Given the description of an element on the screen output the (x, y) to click on. 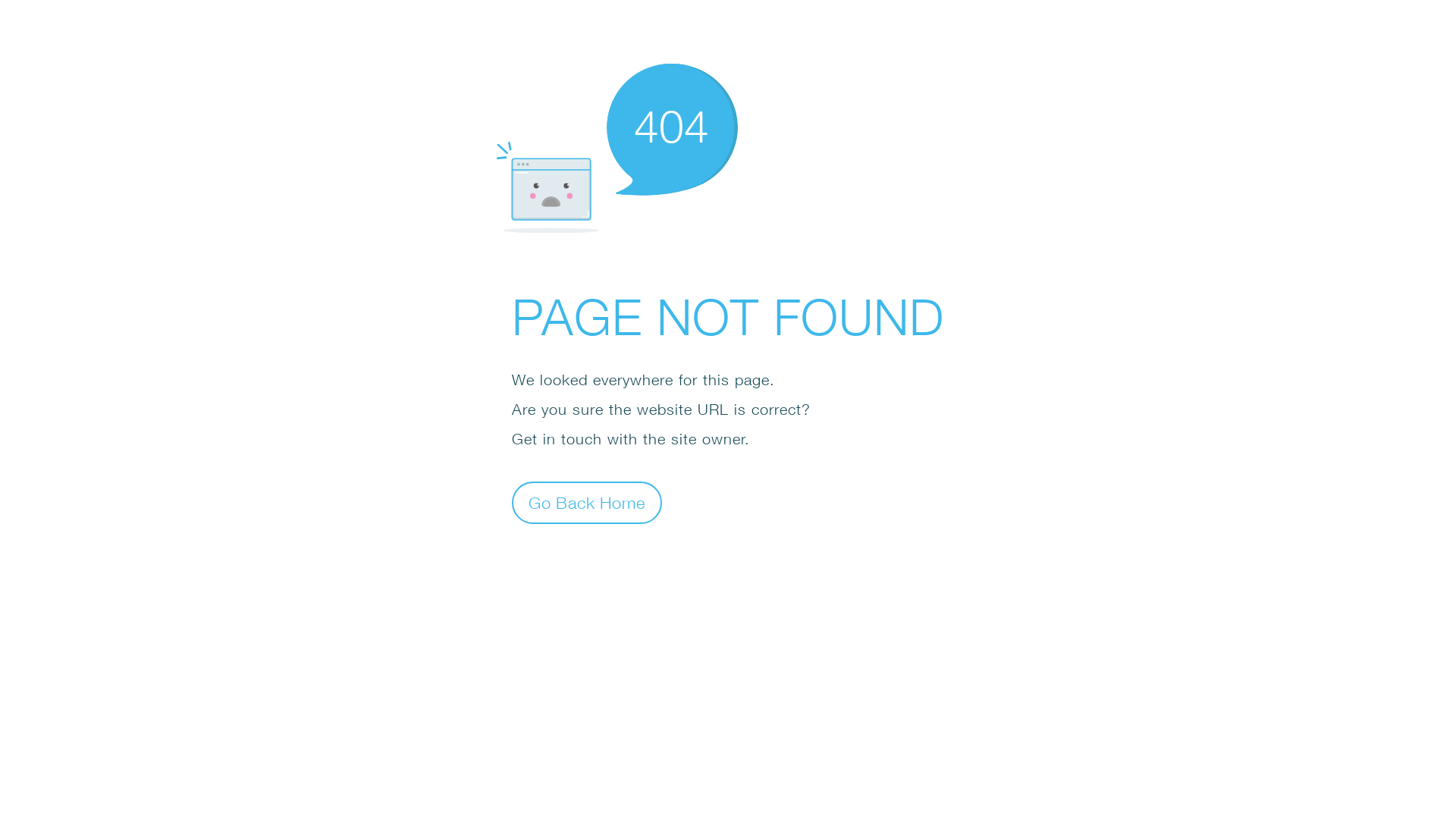
Go Back Home Element type: text (586, 502)
